Given the description of an element on the screen output the (x, y) to click on. 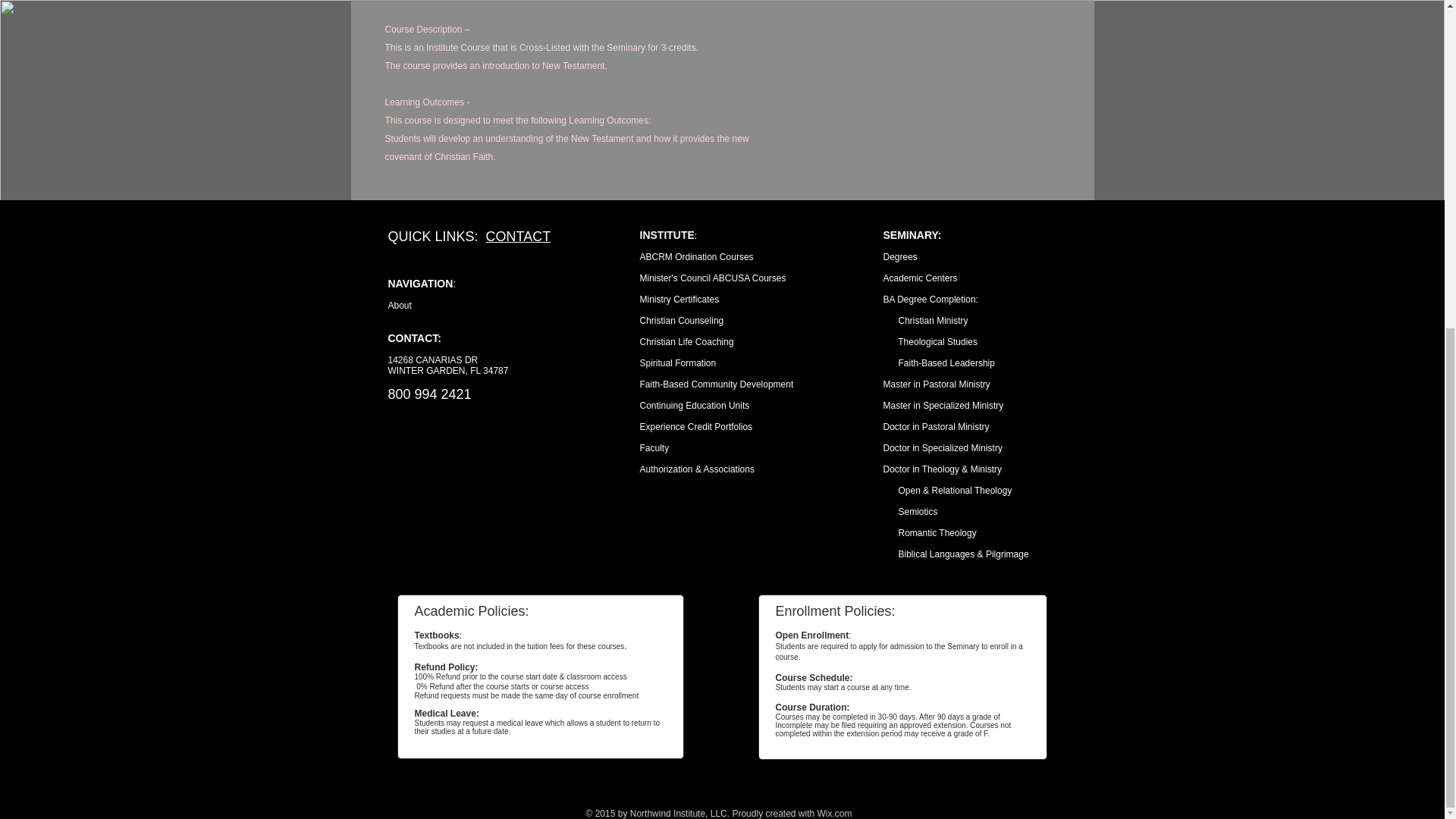
Christian Counseling (681, 320)
Degrees (899, 256)
SEMINARY: (911, 234)
Minister's Council ABCUSA Courses (713, 277)
Spiritual Formation (678, 362)
Continuing Education Units (694, 405)
Ministry Certificates (679, 299)
CONTACT: (415, 338)
Faculty (654, 448)
Academic Centers (919, 277)
